Given the description of an element on the screen output the (x, y) to click on. 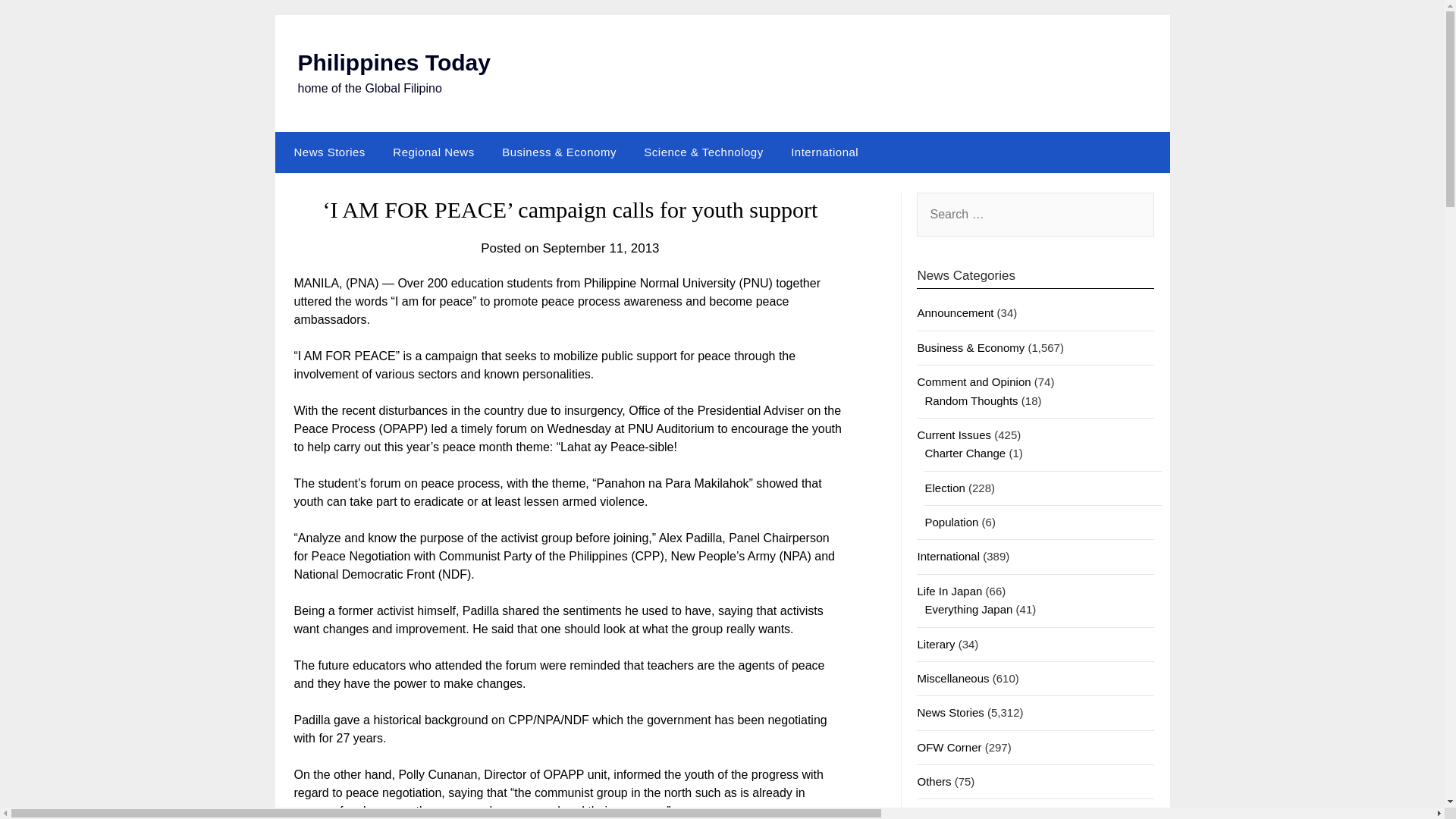
News Stories (326, 151)
Life In Japan (949, 590)
Philippines Today (393, 62)
International (948, 555)
Everything Japan (967, 608)
Announcement (954, 312)
People (934, 814)
International (824, 151)
OFW Corner (949, 747)
News Stories (950, 712)
Population (951, 521)
Election (943, 487)
Others (933, 780)
Literary (936, 644)
Current Issues (954, 434)
